Given the description of an element on the screen output the (x, y) to click on. 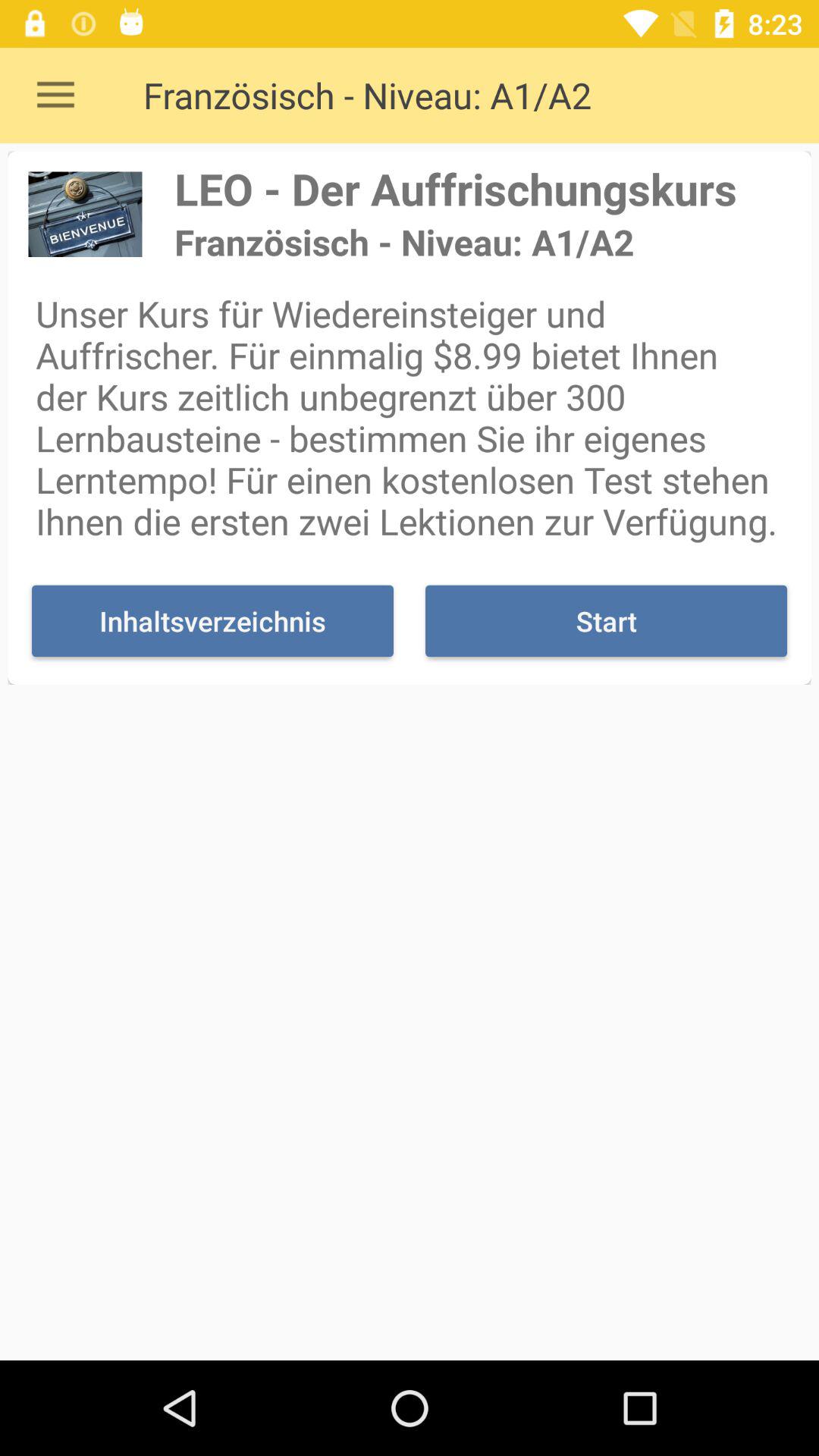
choose start on the right (606, 620)
